Given the description of an element on the screen output the (x, y) to click on. 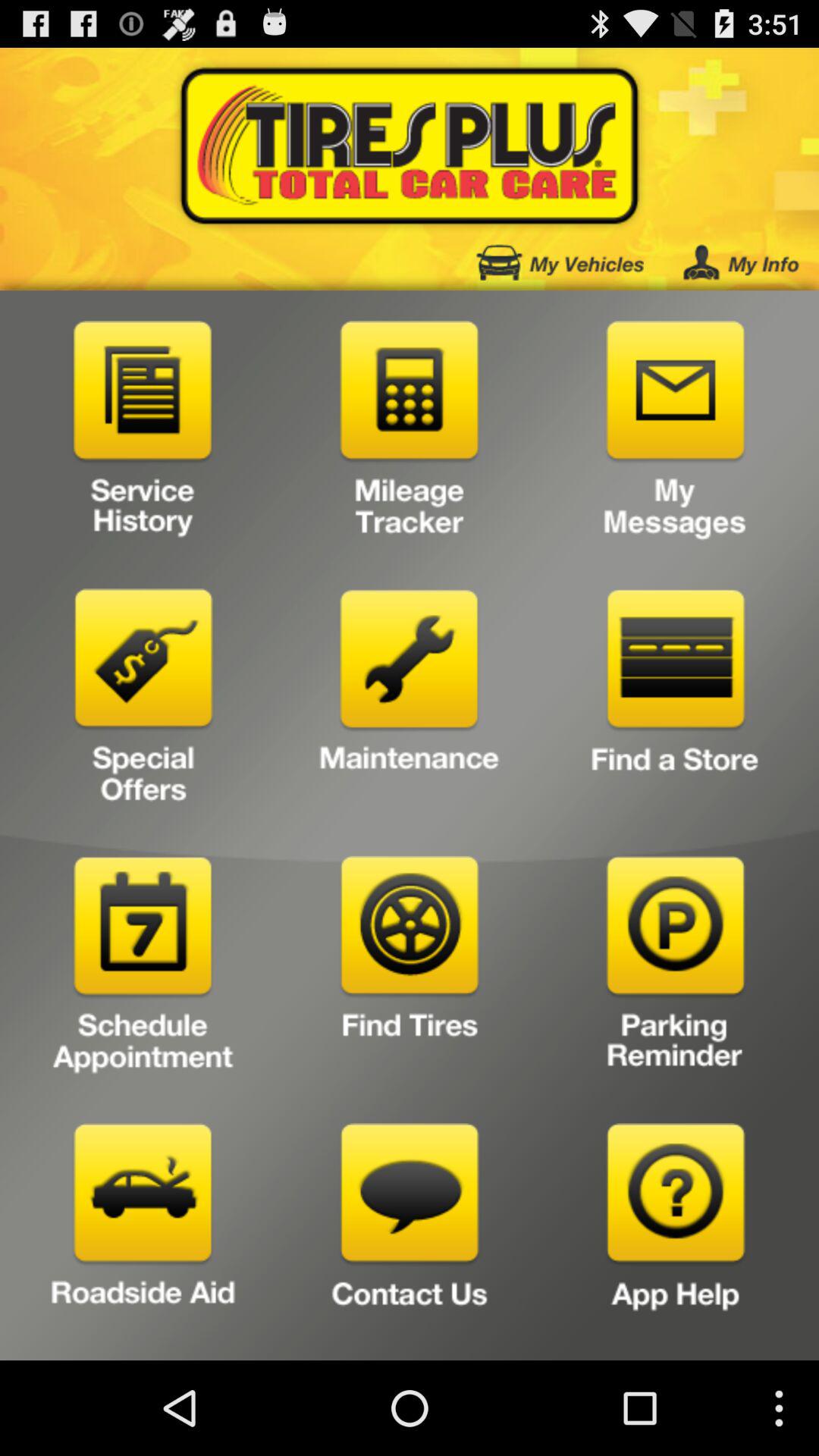
your tire plus service records (142, 434)
